Given the description of an element on the screen output the (x, y) to click on. 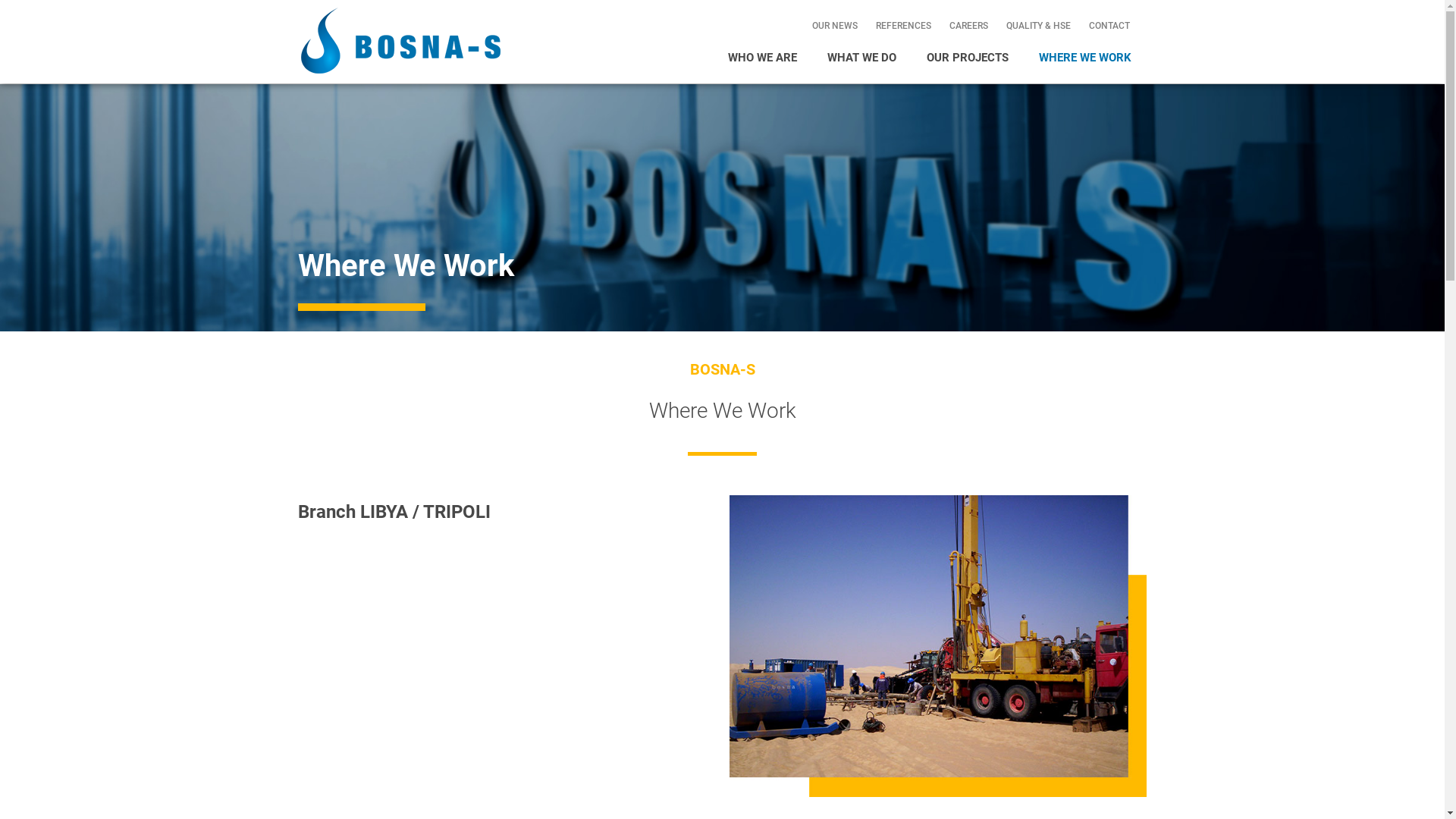
CONTACT Element type: text (1109, 25)
REFERENCES Element type: text (903, 25)
WHERE WE WORK Element type: text (1084, 57)
OUR PROJECTS Element type: text (967, 57)
QUALITY & HSE Element type: text (1038, 25)
OUR NEWS Element type: text (834, 25)
WHAT WE DO Element type: text (861, 57)
WHO WE ARE Element type: text (762, 57)
CAREERS Element type: text (968, 25)
